Given the description of an element on the screen output the (x, y) to click on. 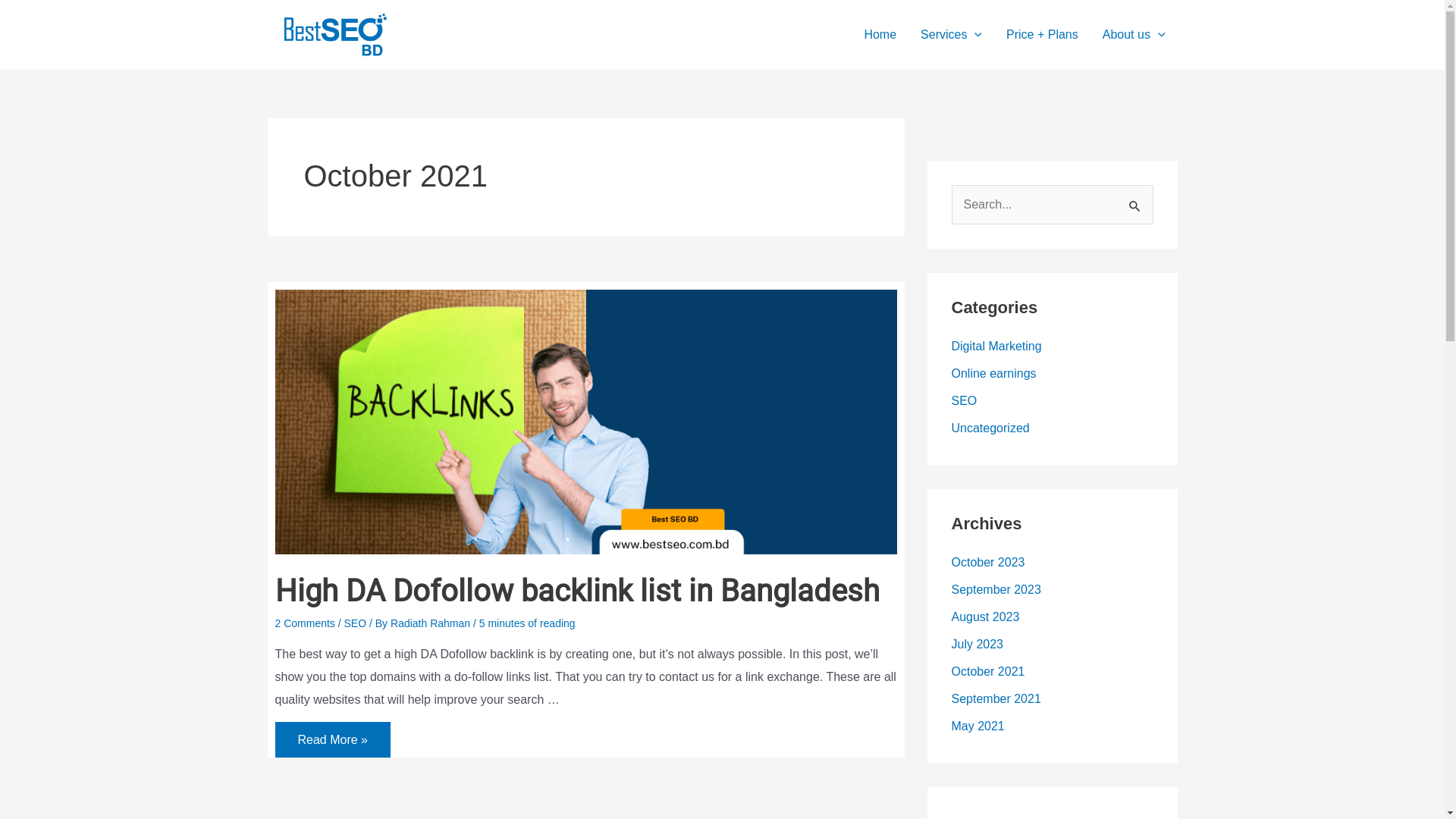
Home Element type: text (879, 34)
Digital Marketing Element type: text (995, 345)
September 2023 Element type: text (995, 589)
September 2021 Element type: text (995, 698)
August 2023 Element type: text (984, 616)
2 Comments Element type: text (304, 623)
SEO Element type: text (963, 400)
July 2023 Element type: text (976, 643)
Online earnings Element type: text (992, 373)
Uncategorized Element type: text (989, 427)
Services Element type: text (951, 34)
Price + Plans Element type: text (1042, 34)
About us Element type: text (1133, 34)
Radiath Rahman Element type: text (431, 623)
October 2023 Element type: text (987, 561)
Search Element type: text (1136, 200)
SEO Element type: text (355, 623)
High DA Dofollow backlink list in Bangladesh Element type: text (576, 590)
October 2021 Element type: text (987, 671)
May 2021 Element type: text (977, 725)
